Given the description of an element on the screen output the (x, y) to click on. 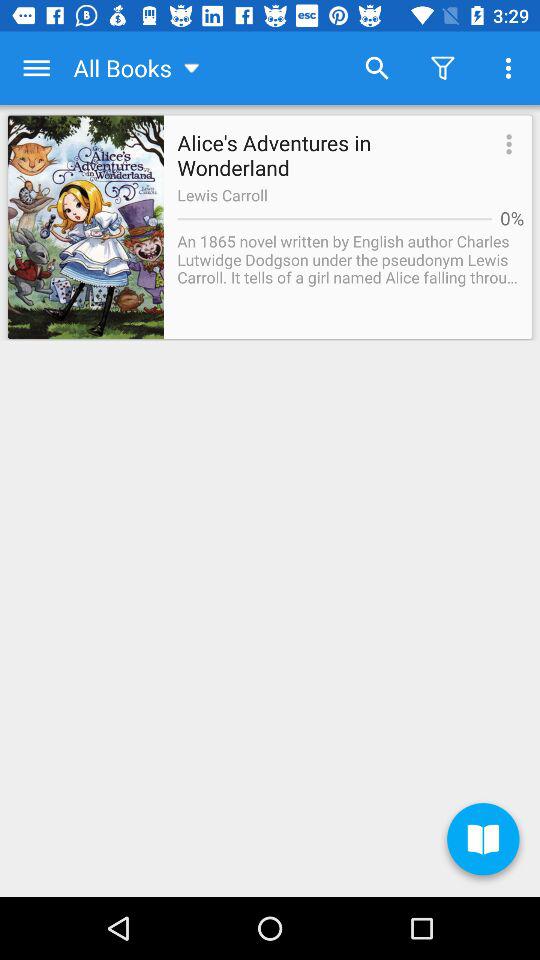
tap the icon to the right of alice s adventures app (505, 146)
